Given the description of an element on the screen output the (x, y) to click on. 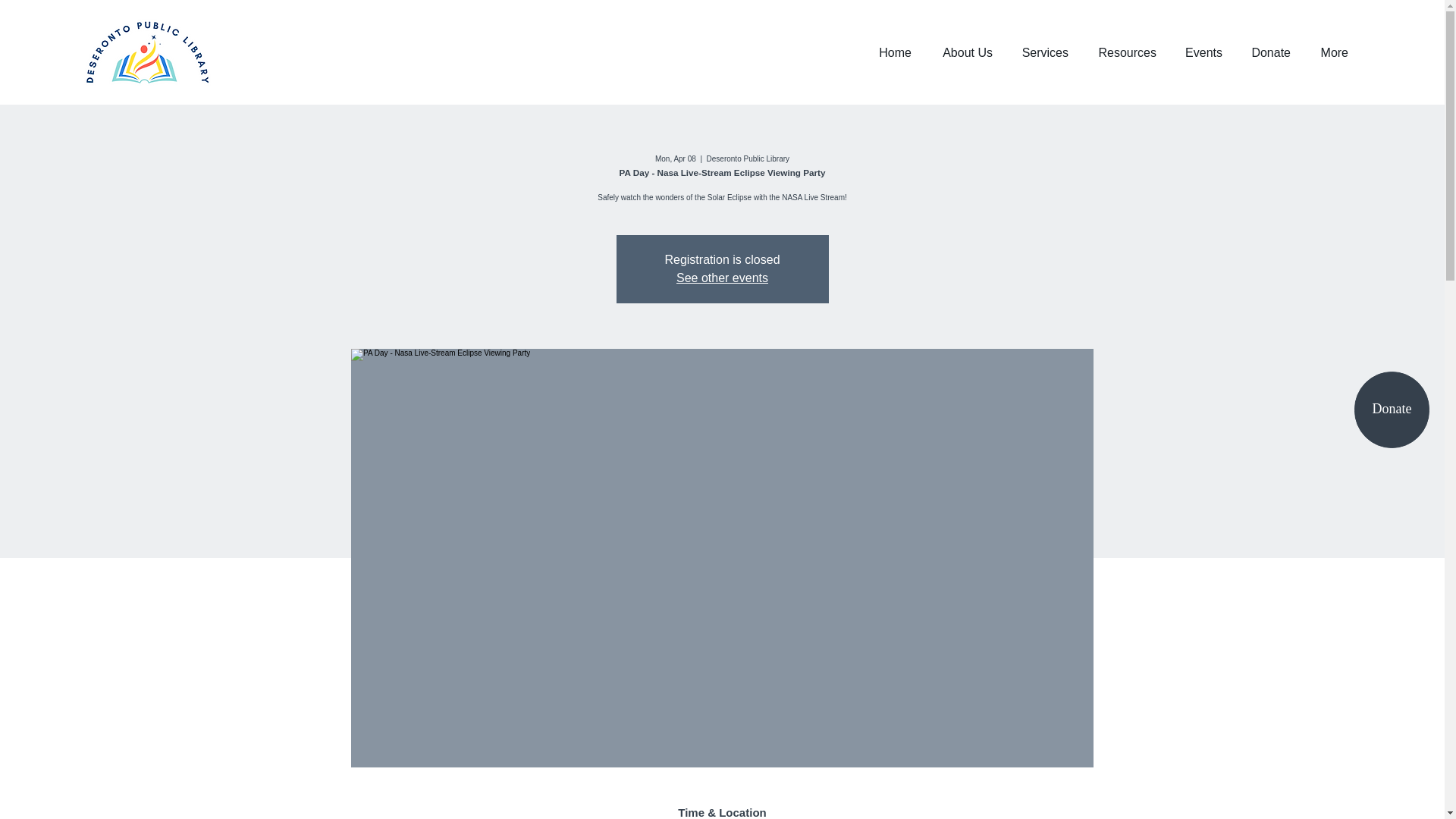
Donate (1391, 409)
Resources (1123, 53)
Events (1200, 53)
Home (891, 53)
Deseronto Public Library (147, 52)
Donate (1267, 53)
About Us (963, 53)
See other events (722, 277)
Services (1042, 53)
